Given the description of an element on the screen output the (x, y) to click on. 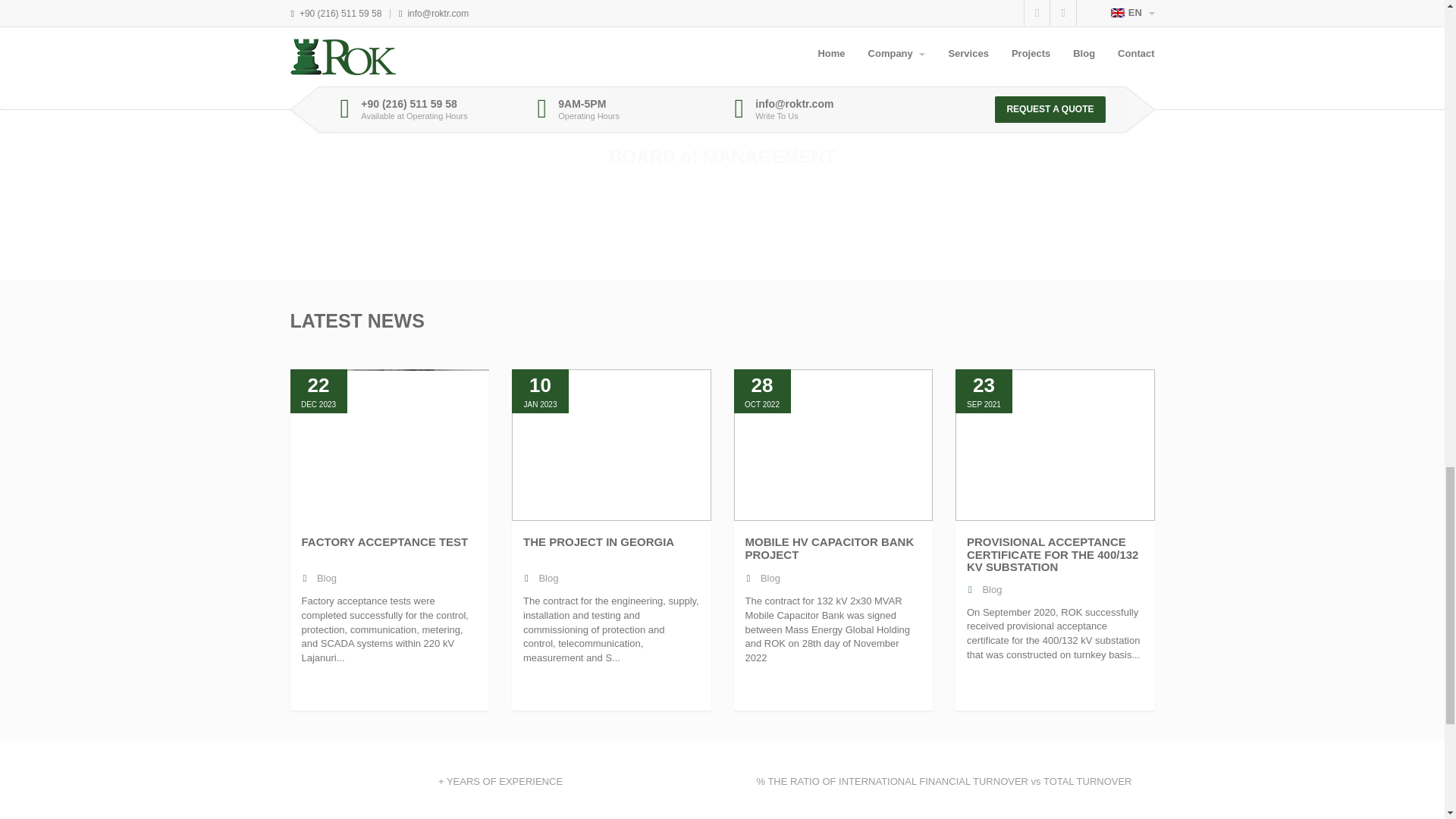
Blog (326, 577)
Blog (547, 577)
Blog (770, 577)
MOBILE HV CAPACITOR BANK PROJECT (829, 548)
THE PROJECT IN GEORGIA (598, 541)
FACTORY ACCEPTANCE TEST (384, 541)
